Given the description of an element on the screen output the (x, y) to click on. 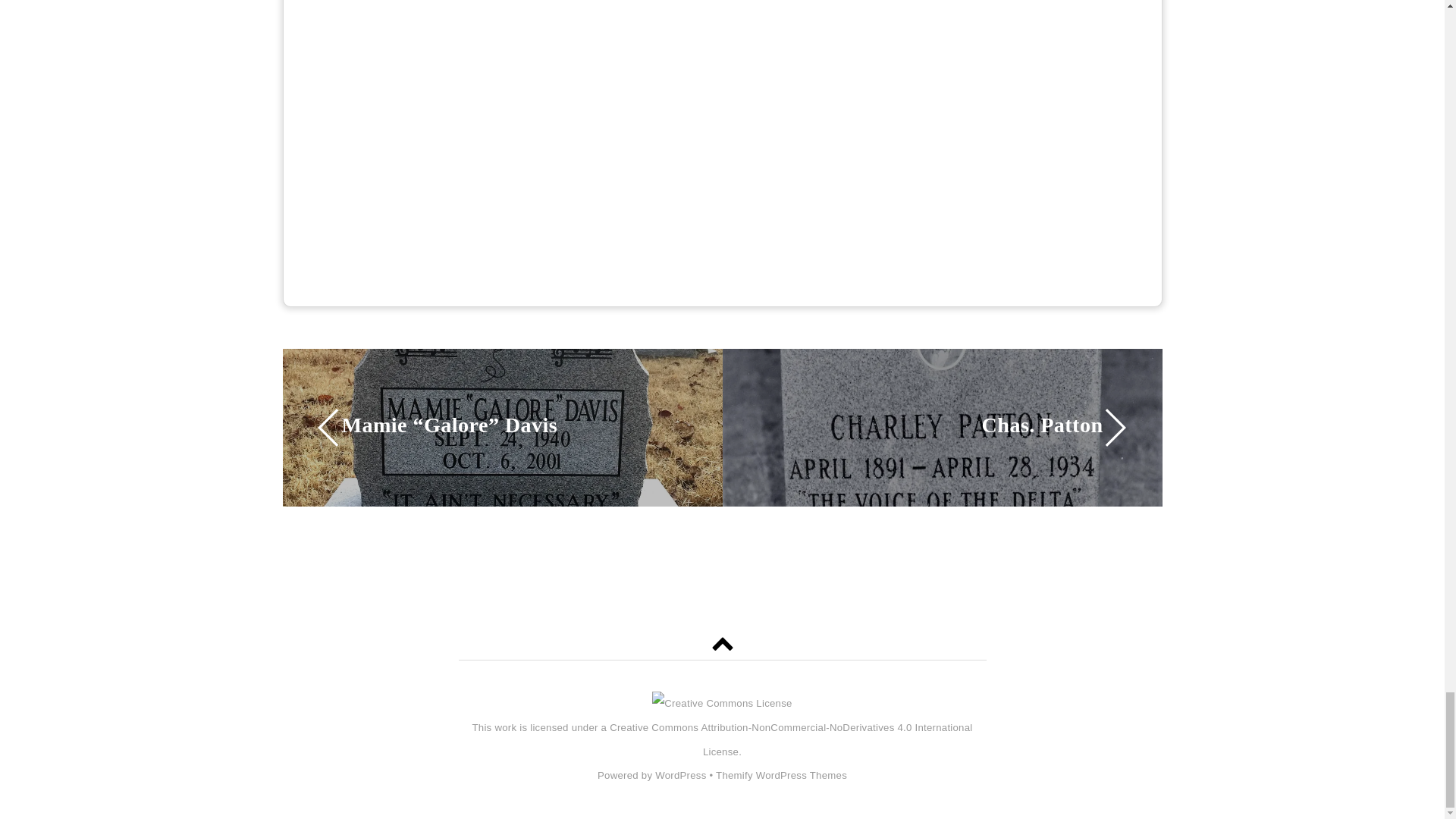
Chas. Patton (928, 425)
Back to top (722, 645)
WordPress (680, 775)
Themify WordPress Themes (781, 775)
